Given the description of an element on the screen output the (x, y) to click on. 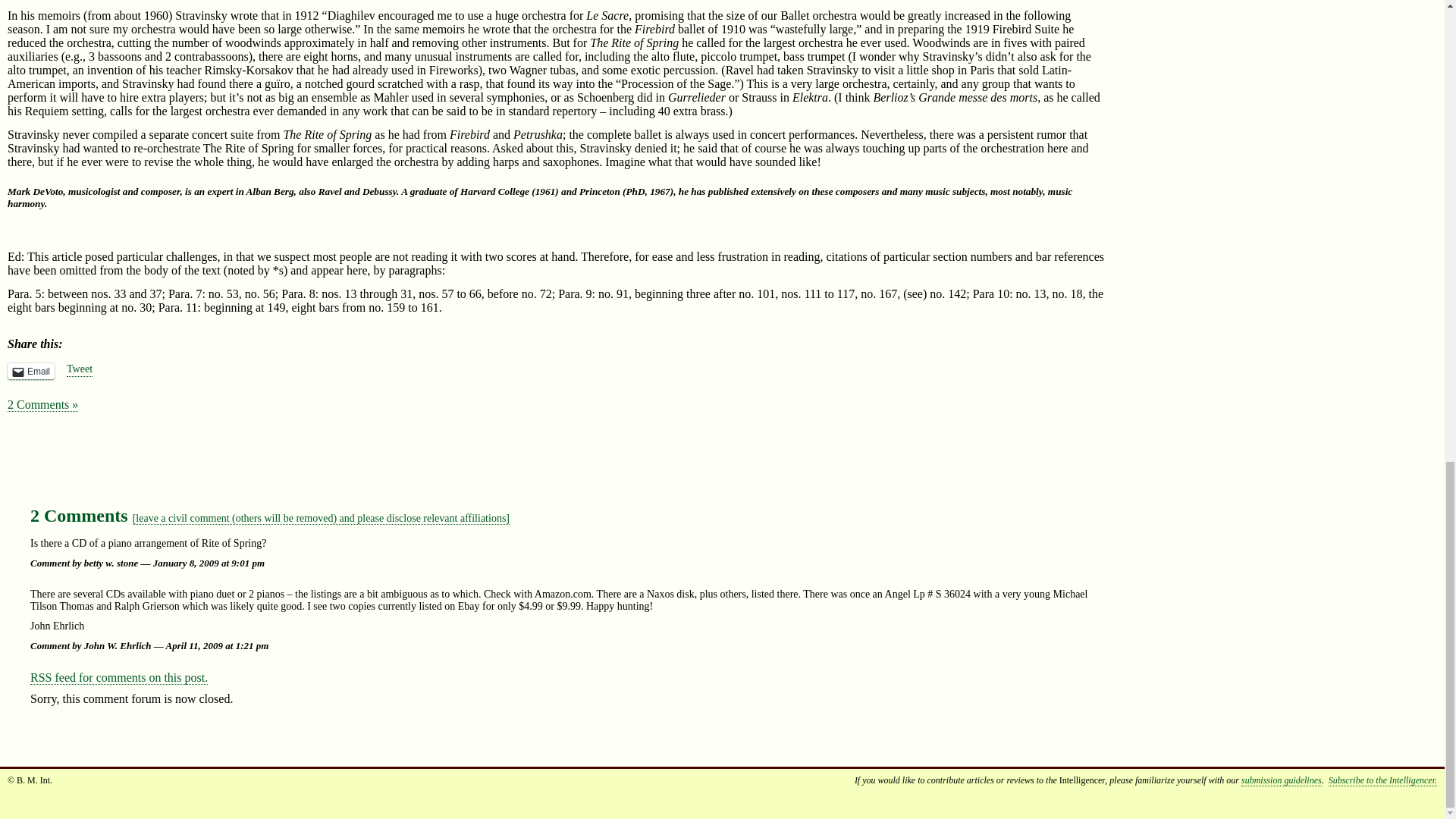
Click to email a link to a friend (31, 371)
Leave a comment (320, 518)
Subscribe to the Intelligencer. (1382, 780)
RSS feed for comments on this post. (119, 677)
Really Simple Syndication (40, 676)
Tweet (79, 369)
submission guidelines (1281, 780)
Email (31, 371)
